Given the description of an element on the screen output the (x, y) to click on. 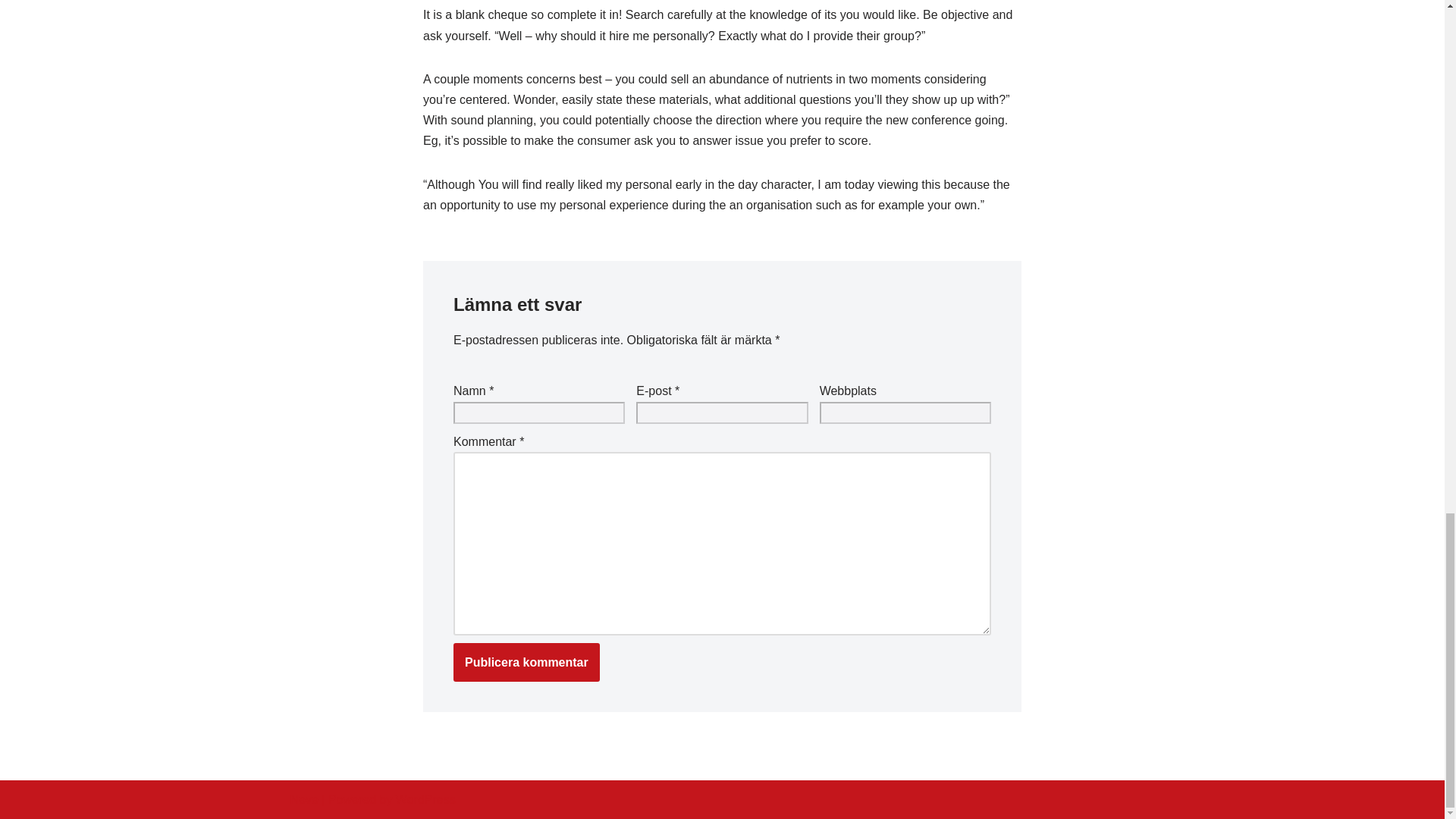
Publicera kommentar (525, 662)
WordPress (425, 799)
Publicera kommentar (525, 662)
Neve (303, 799)
